Given the description of an element on the screen output the (x, y) to click on. 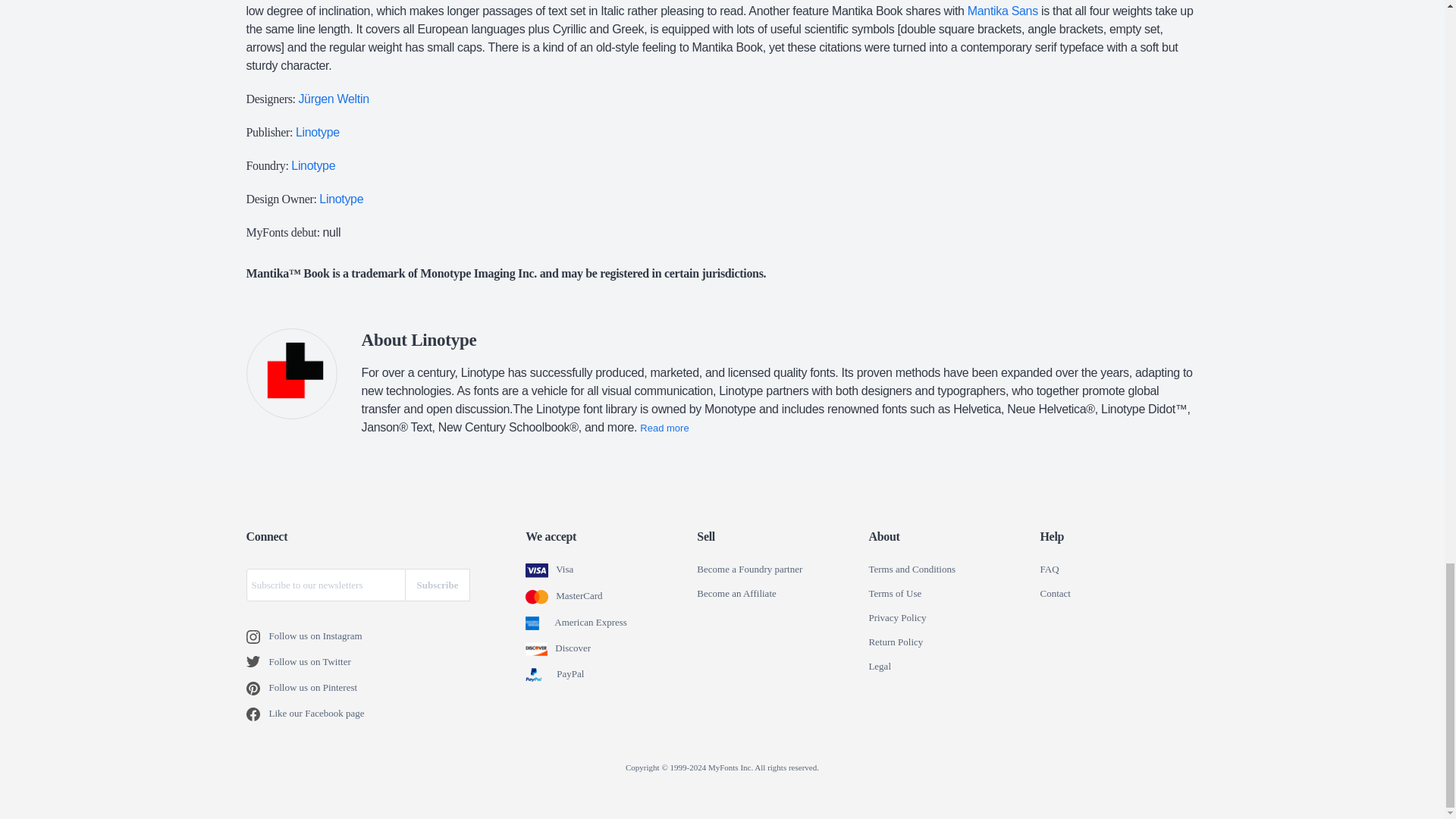
Follow us on Twitter (256, 662)
Become a Foundry partner (749, 569)
Follow us on Instagram (256, 636)
Please fill out this field (325, 584)
Like our Facebook page (256, 714)
Follow us on Pinterest (256, 688)
